Given the description of an element on the screen output the (x, y) to click on. 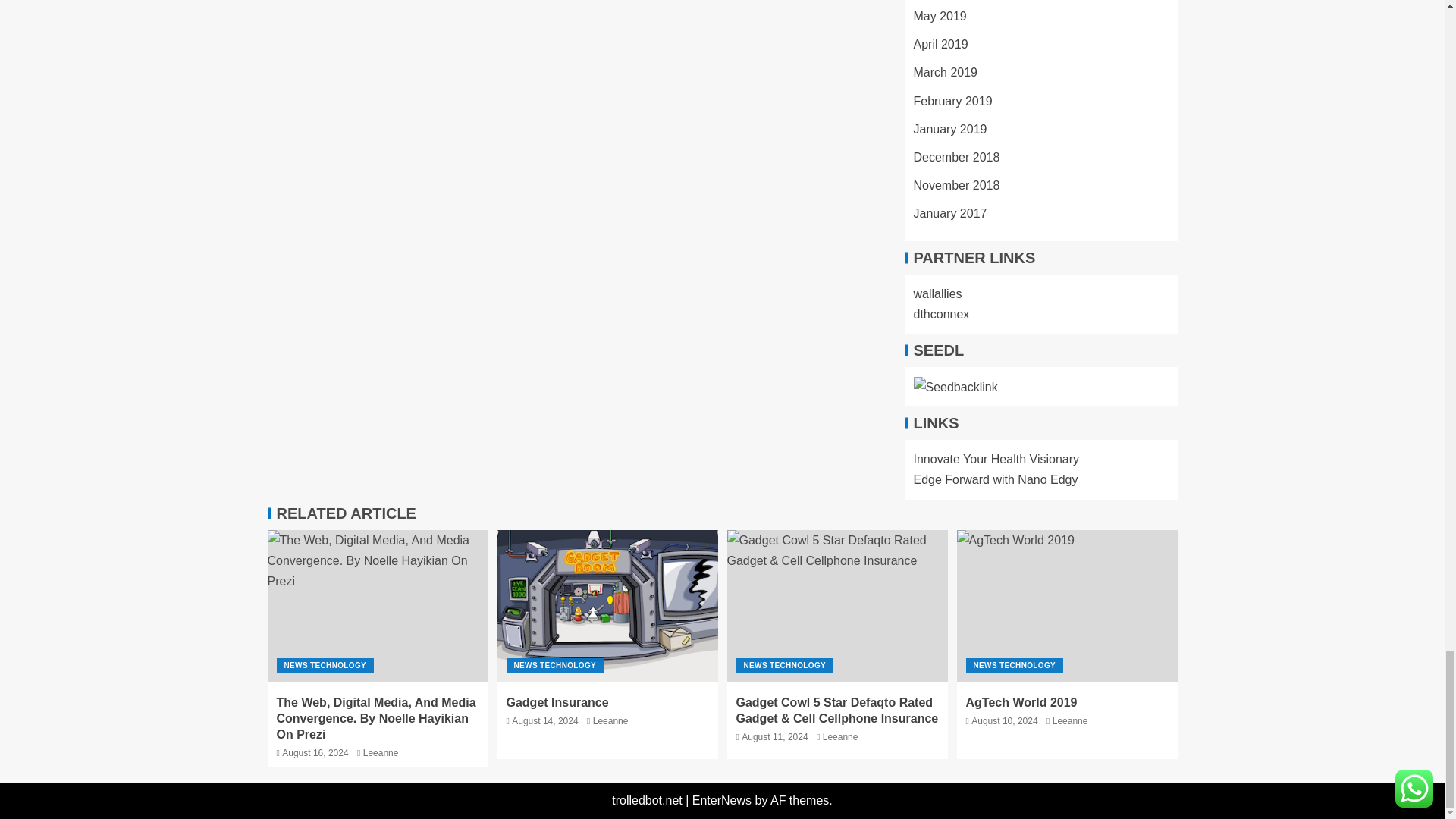
Gadget Insurance (607, 605)
Seedbacklink (954, 386)
